Given the description of an element on the screen output the (x, y) to click on. 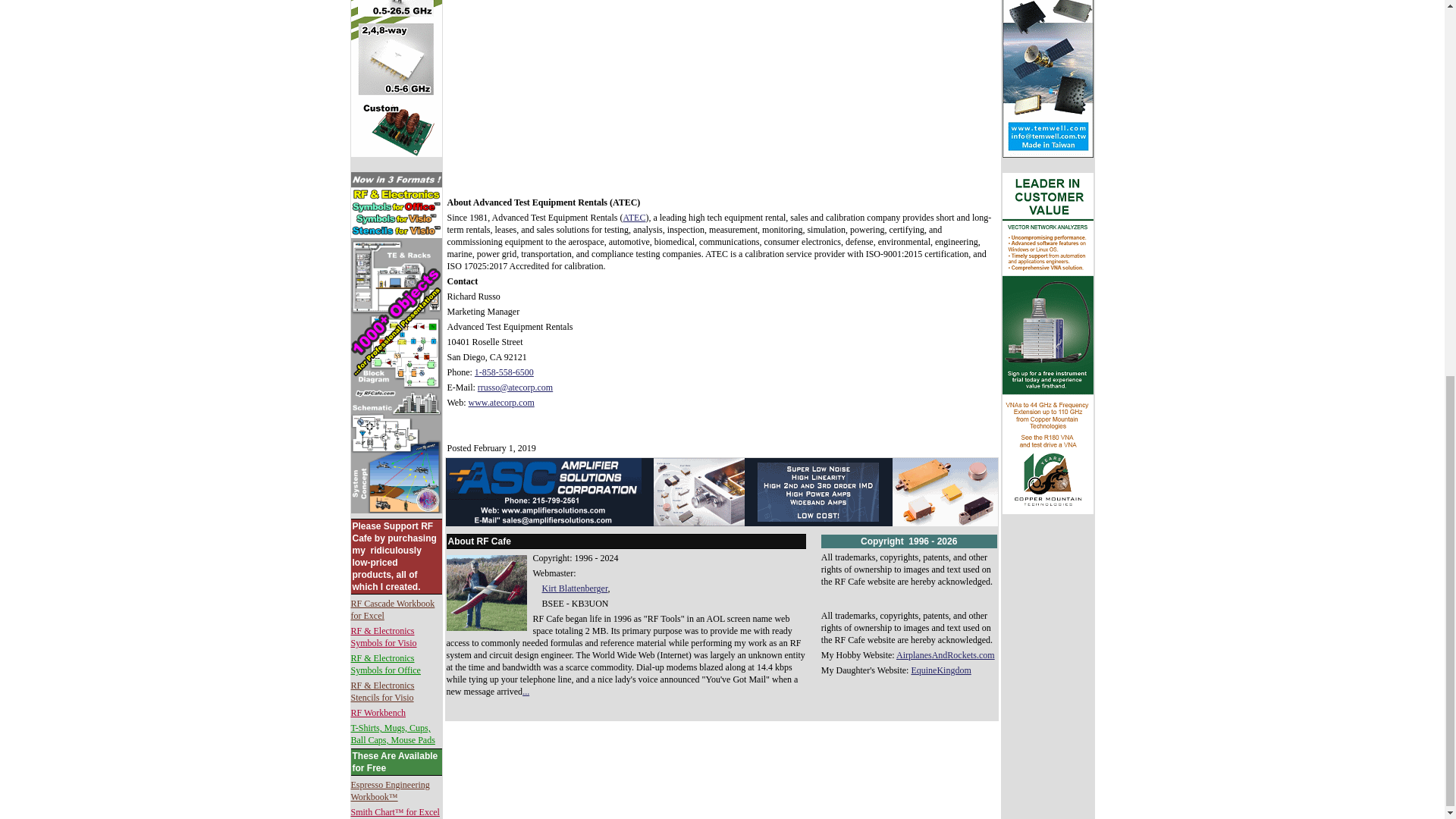
T-Shirts, Mugs, Cups, Ball Caps, Mouse Pads (391, 733)
RF Workbench (377, 712)
RF Cascade Workbook for Excel (391, 609)
1-858-558-6500 (504, 371)
ATEC (634, 217)
